Given the description of an element on the screen output the (x, y) to click on. 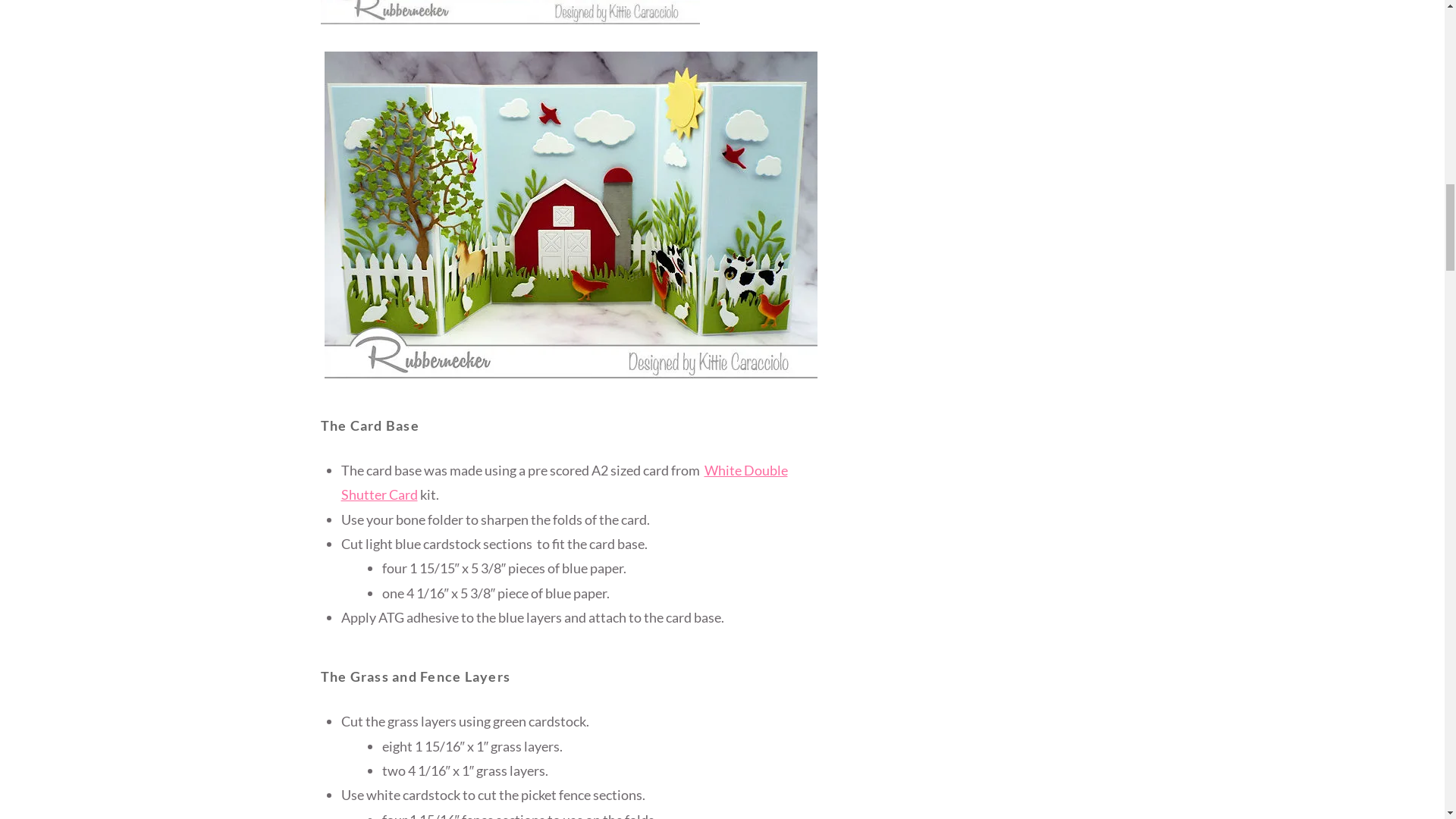
White Double Shutter Card (563, 481)
